Given the description of an element on the screen output the (x, y) to click on. 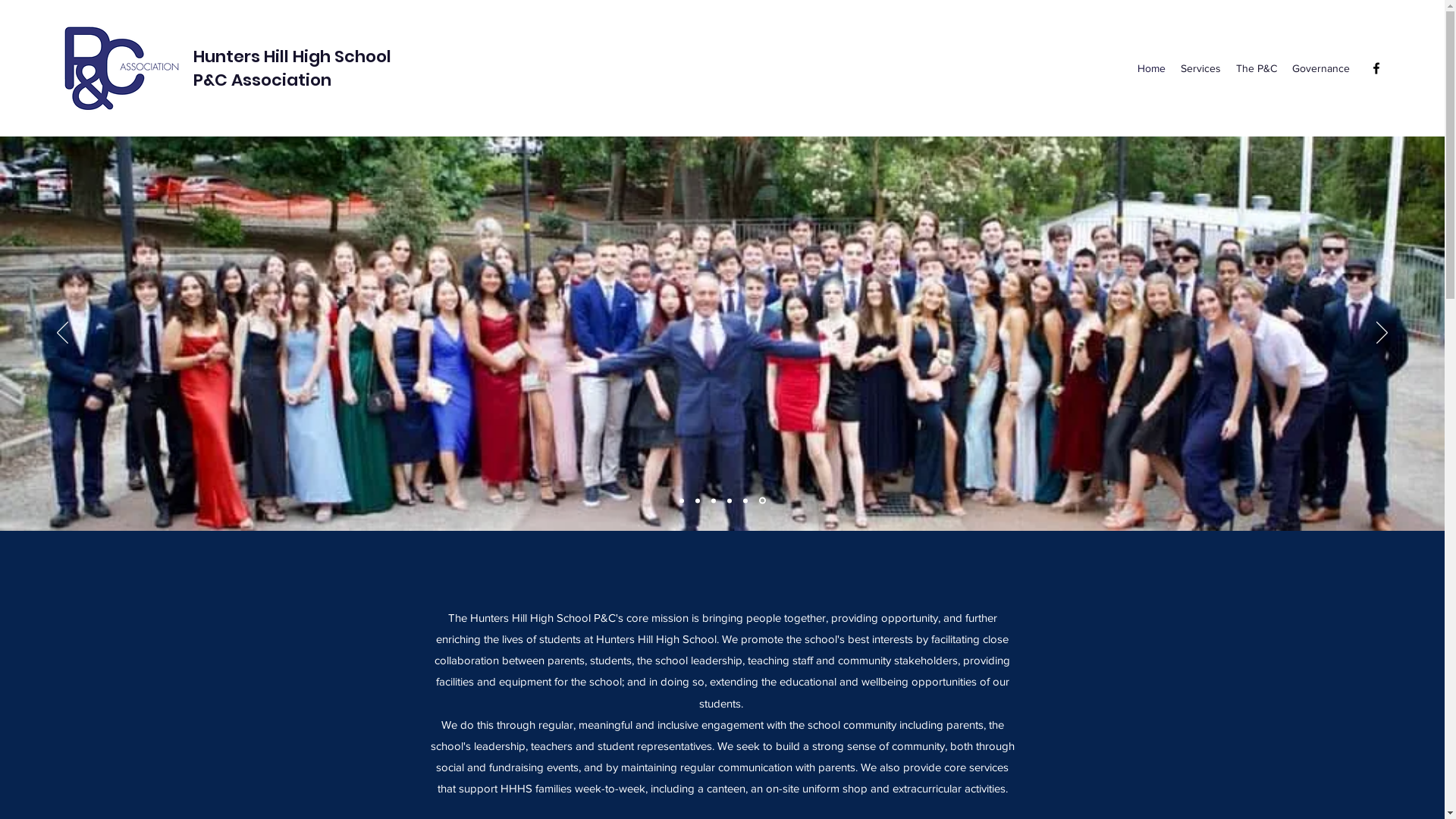
Home Element type: text (1151, 67)
Hunters Hill High School
P&C Association Element type: text (292, 67)
